Given the description of an element on the screen output the (x, y) to click on. 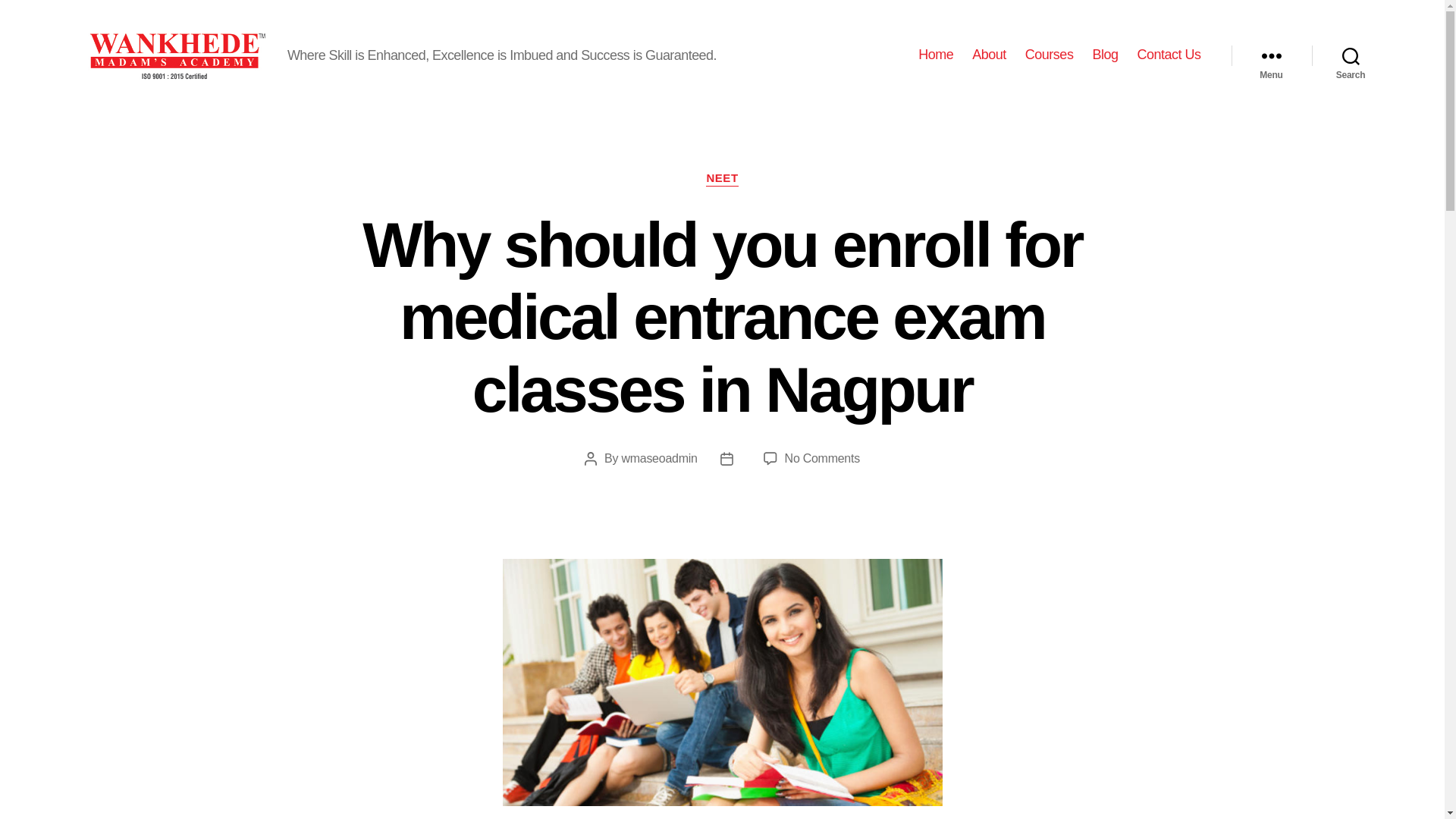
Blog (1105, 54)
About (989, 54)
Courses (1049, 54)
wmaseoadmin (659, 458)
Search (1350, 55)
Home (935, 54)
Contact Us (1168, 54)
NEET (722, 178)
Menu (1271, 55)
